Given the description of an element on the screen output the (x, y) to click on. 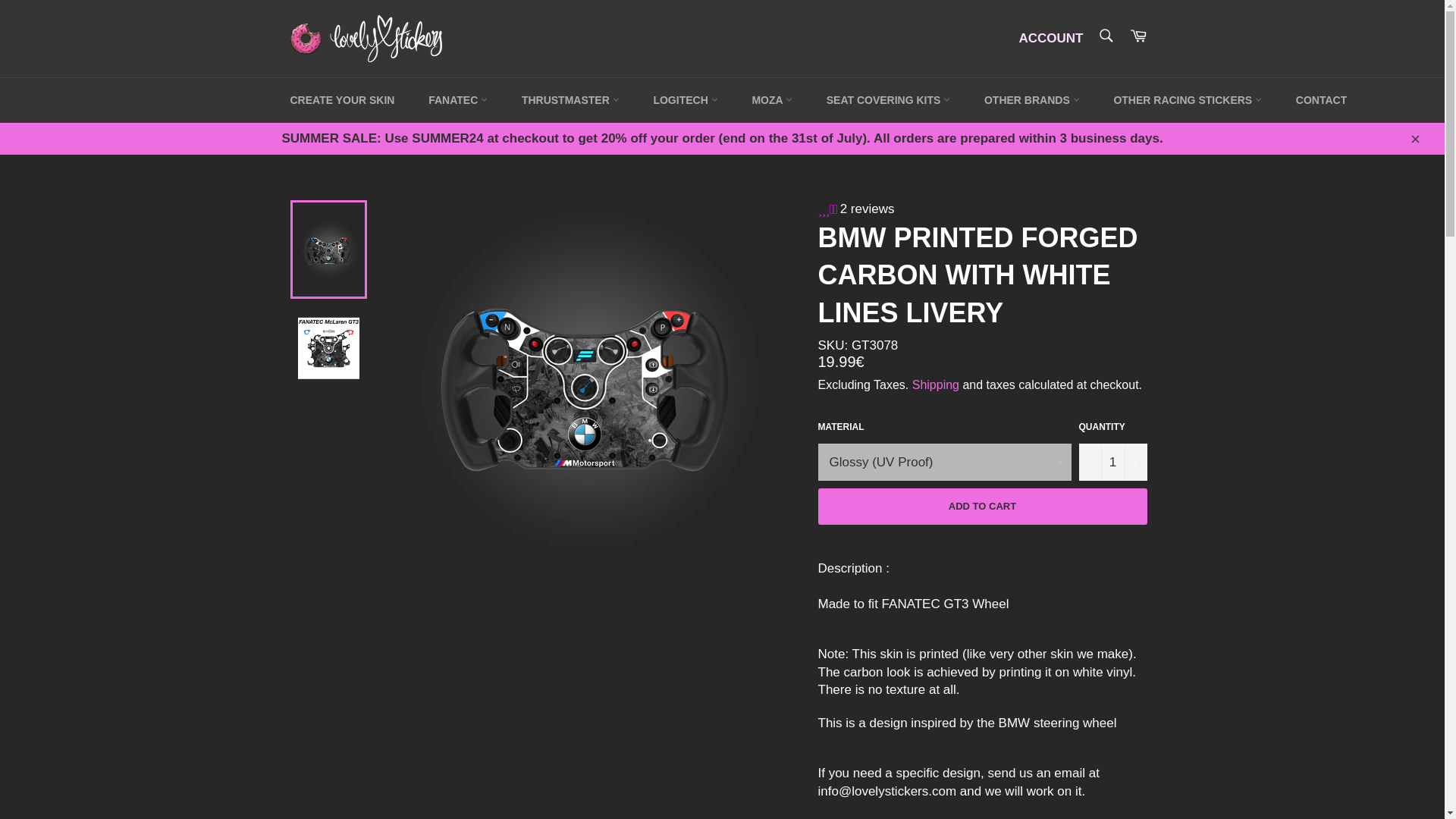
1 (1112, 461)
